Given the description of an element on the screen output the (x, y) to click on. 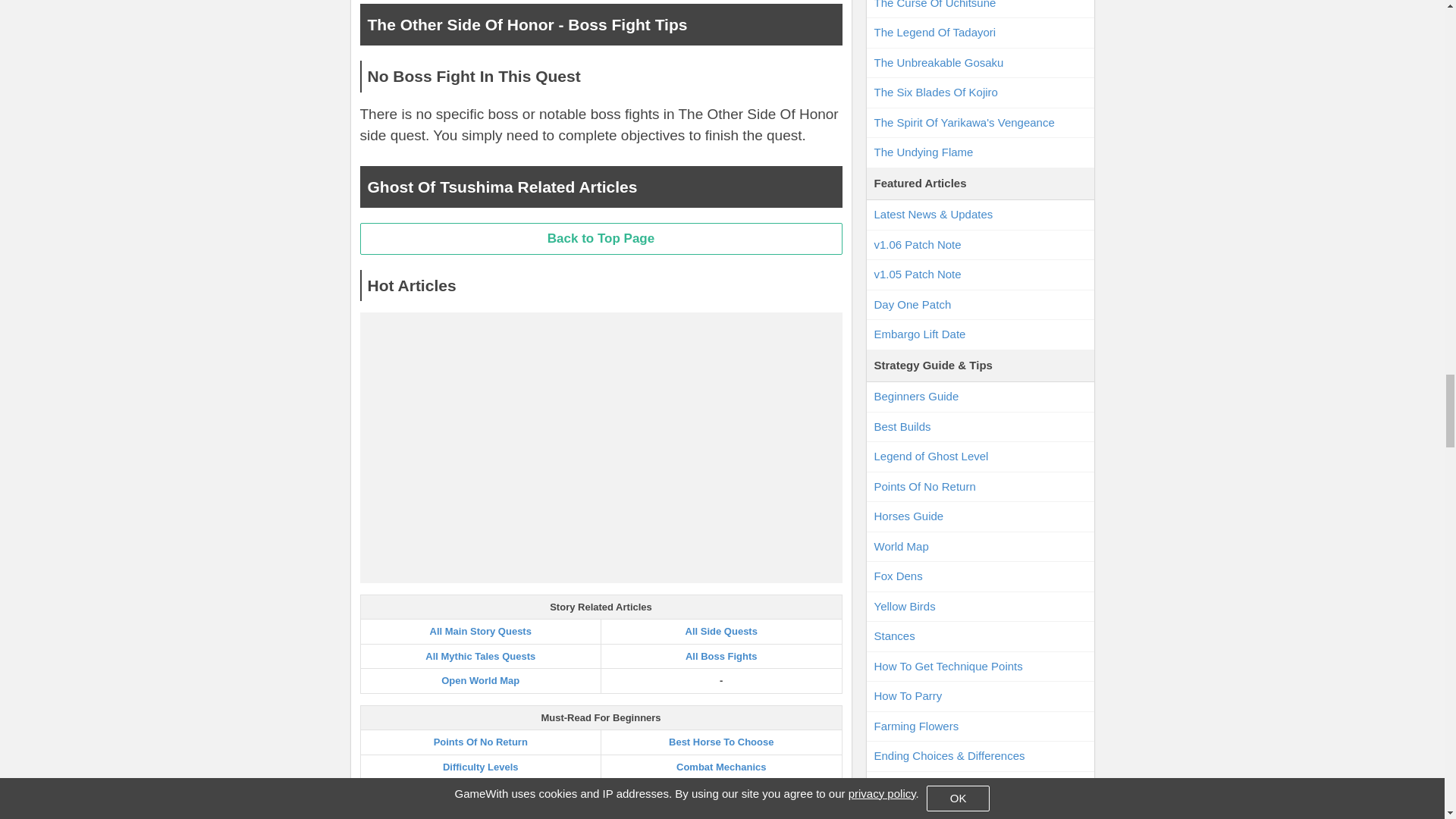
All Boss Fights (721, 655)
Points Of No Return (480, 741)
All Mythic Tales Quests (480, 655)
Difficulty Levels (480, 767)
Open World Map (480, 680)
Best Horse To Choose (720, 741)
All Side Quests (721, 631)
Back to Top Page (600, 238)
All Main Story Quests (480, 631)
